Given the description of an element on the screen output the (x, y) to click on. 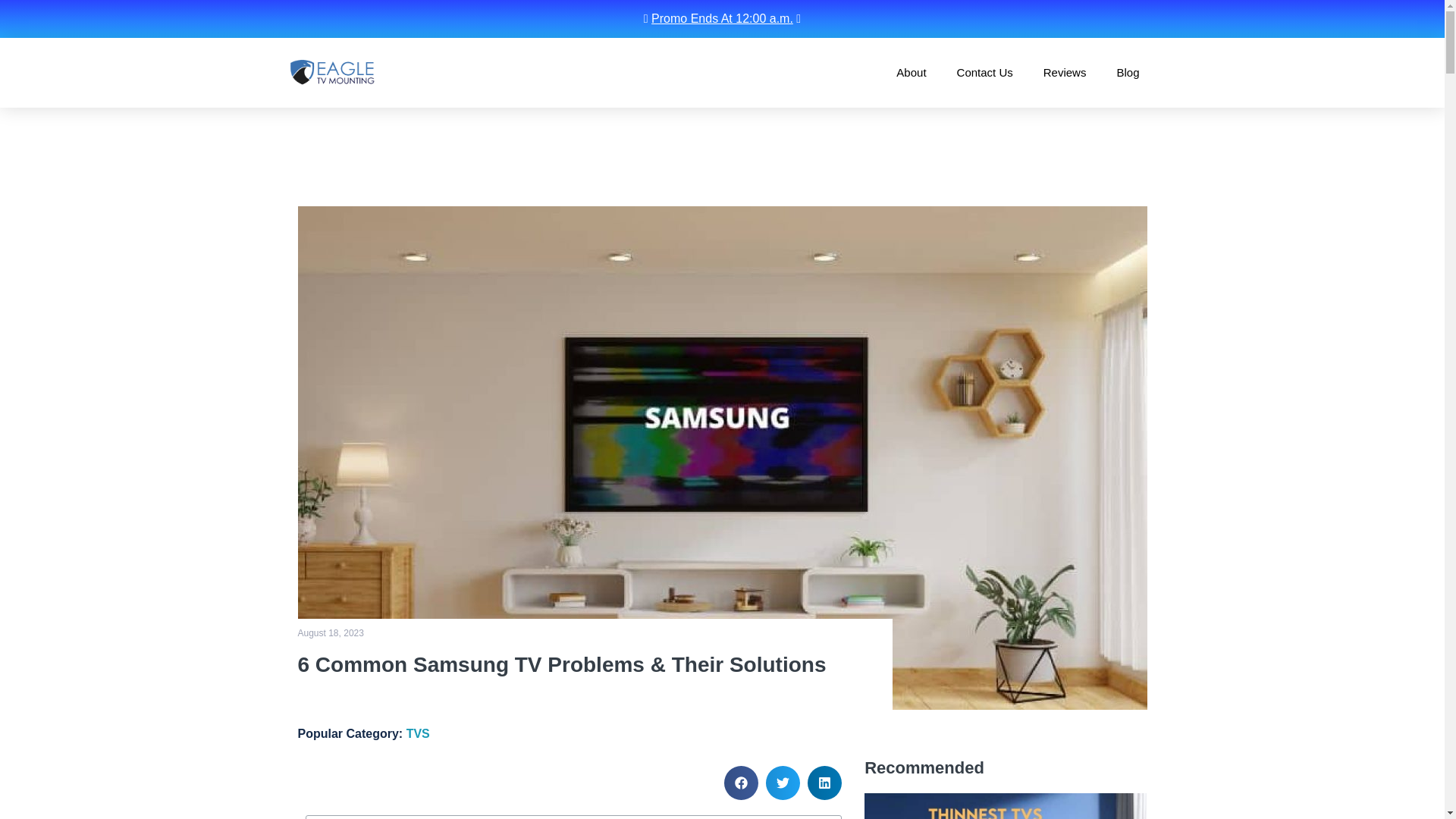
Reviews (1064, 72)
TVS (417, 733)
Contact Us (984, 72)
